Given the description of an element on the screen output the (x, y) to click on. 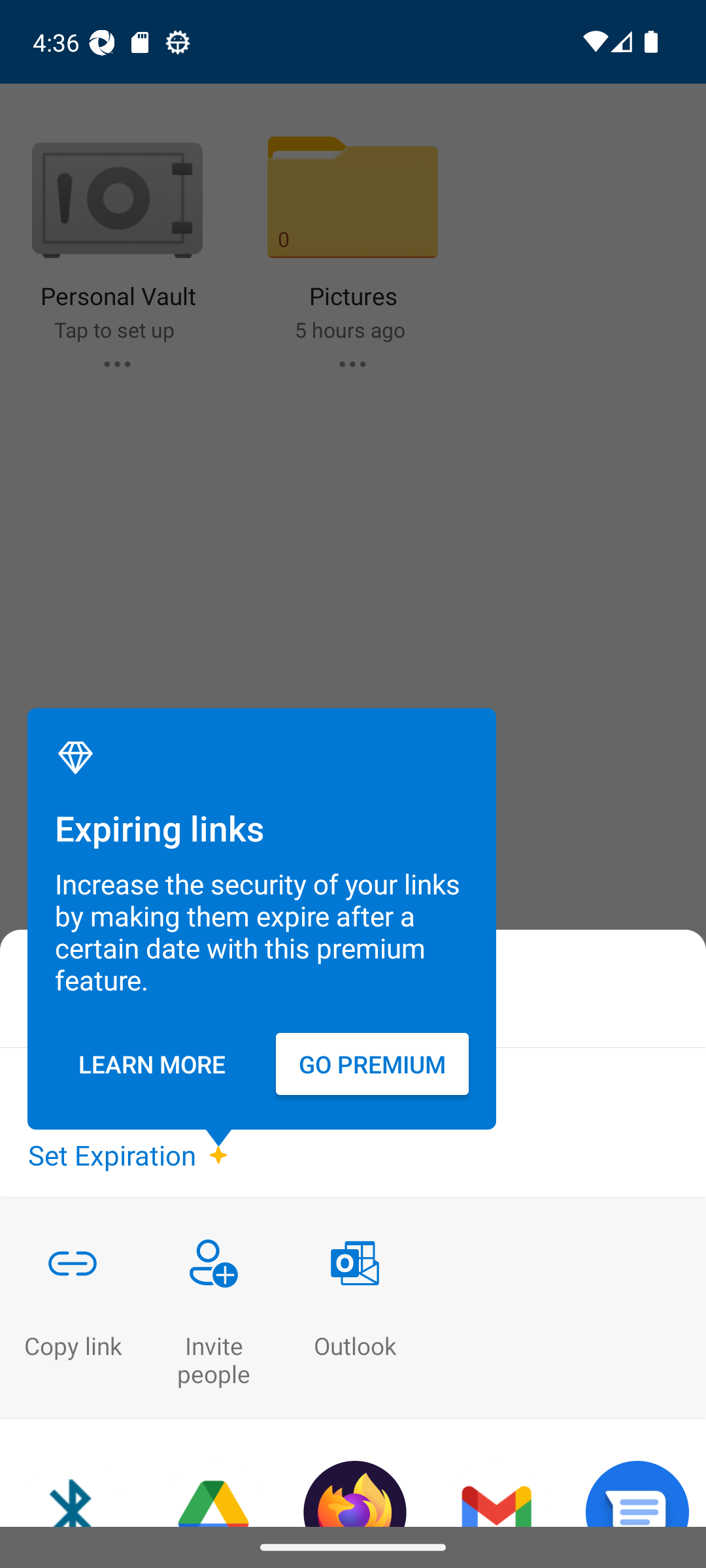
LEARN MORE Learn more (151, 1063)
GO PREMIUM Go premium (372, 1063)
